Given the description of an element on the screen output the (x, y) to click on. 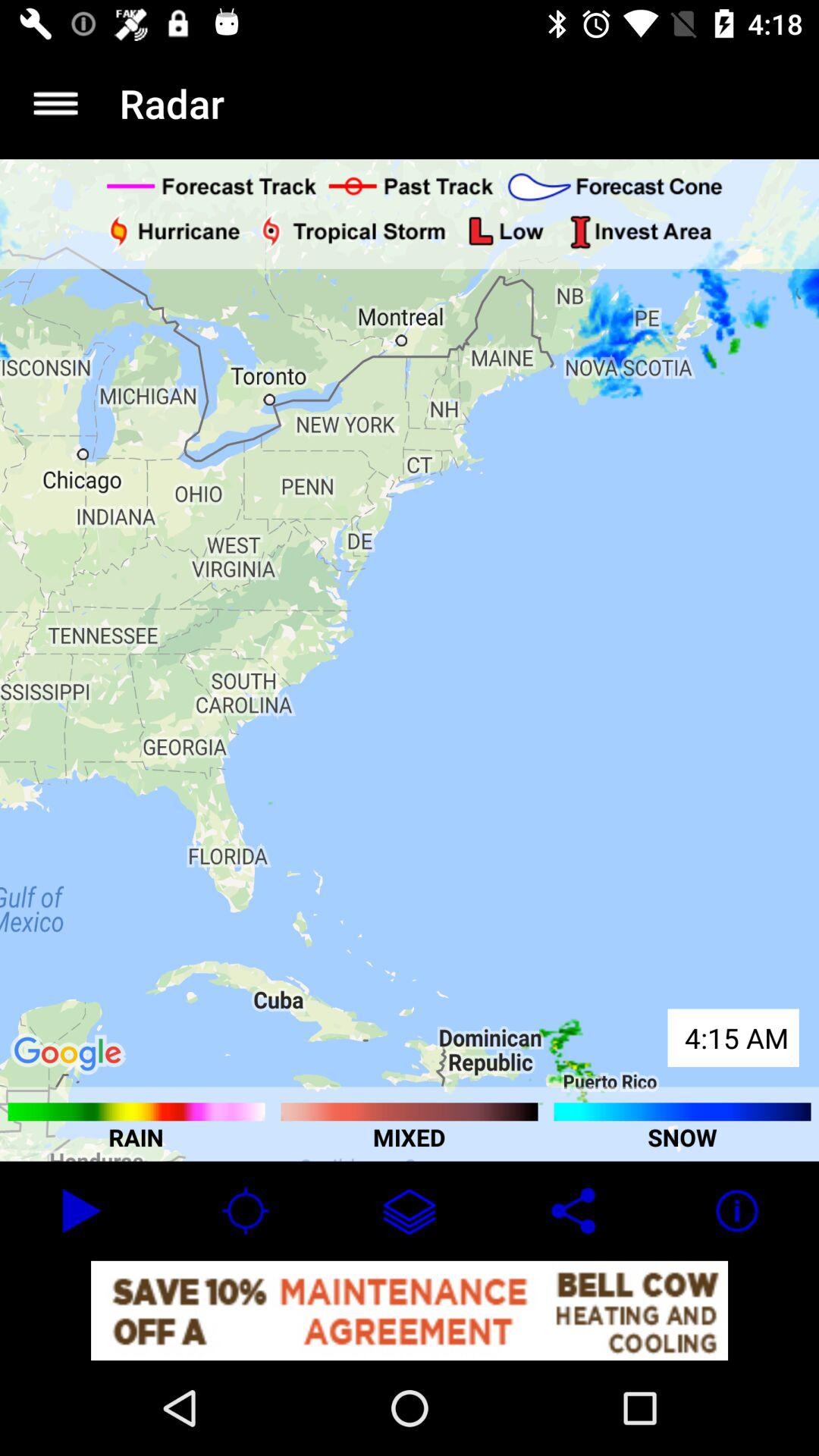
launch the item next to radar app (55, 103)
